Given the description of an element on the screen output the (x, y) to click on. 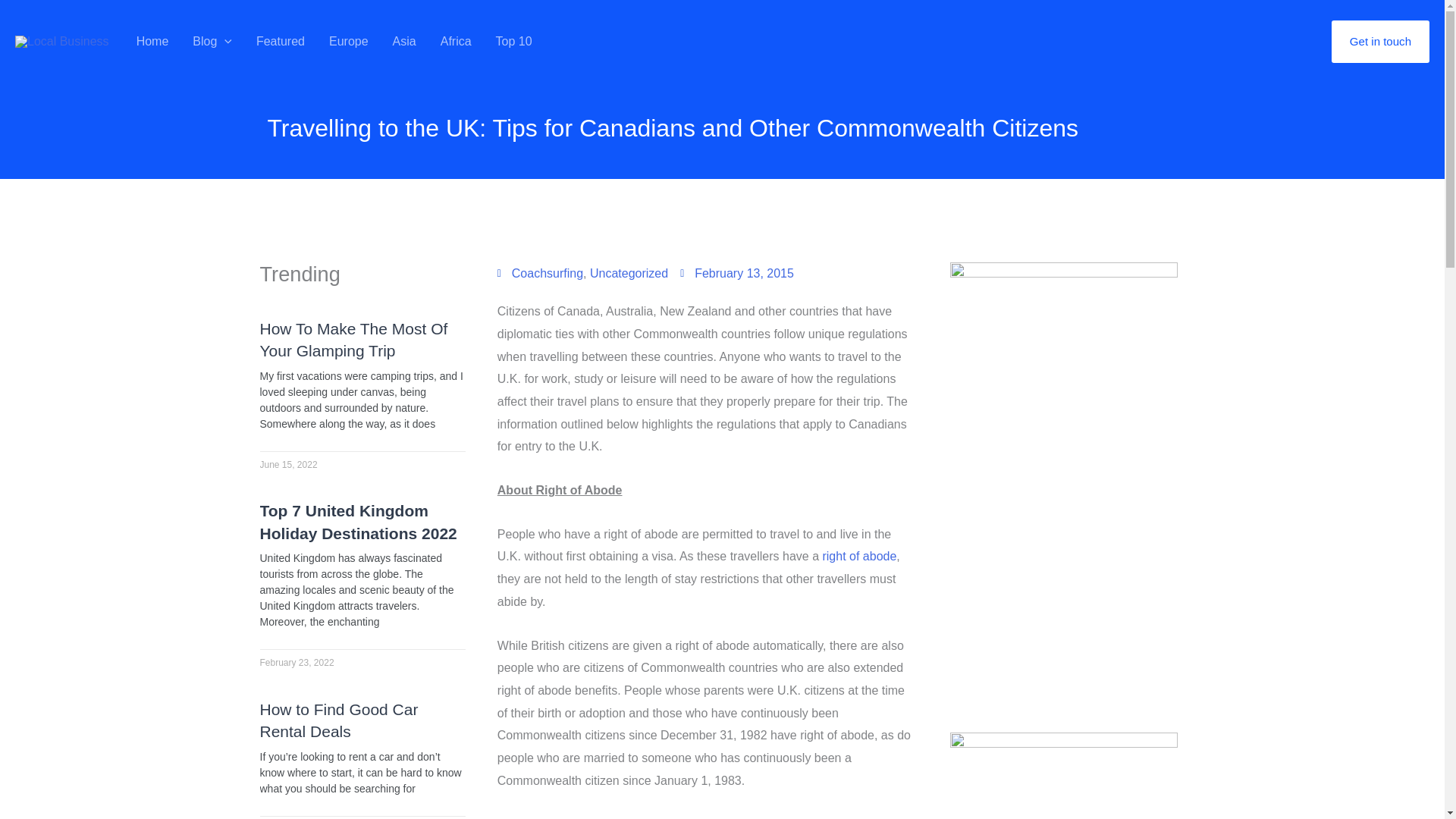
right of abode (859, 555)
Get in touch (1380, 41)
Top 7 United Kingdom Holiday Destinations 2022 (358, 521)
Coachsurfing (547, 273)
How to Find Good Car Rental Deals (338, 720)
How To Make The Most Of Your Glamping Trip (352, 339)
Uncategorized (628, 273)
February 13, 2015 (736, 273)
